Given the description of an element on the screen output the (x, y) to click on. 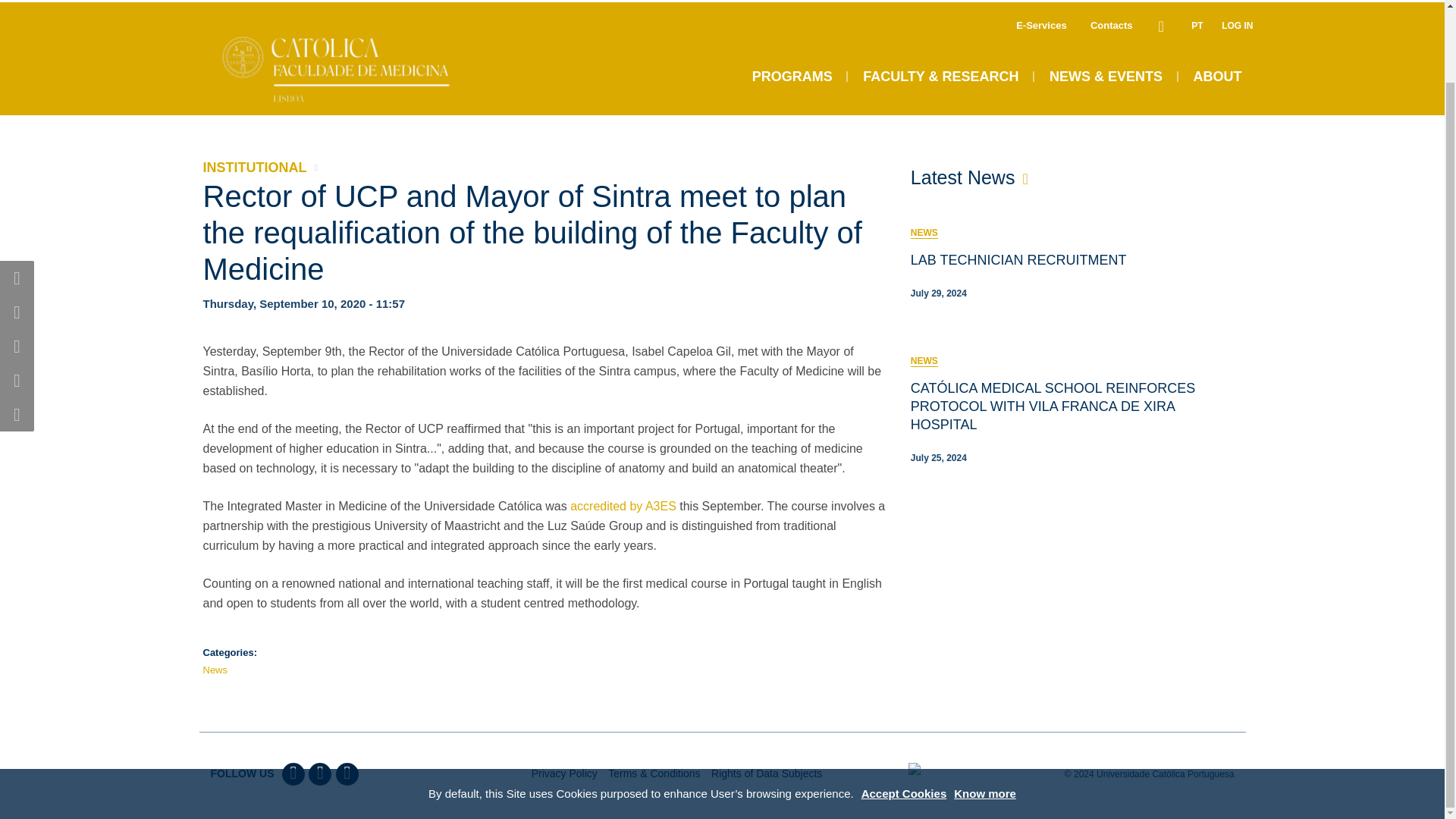
Home (354, 28)
